Given the description of an element on the screen output the (x, y) to click on. 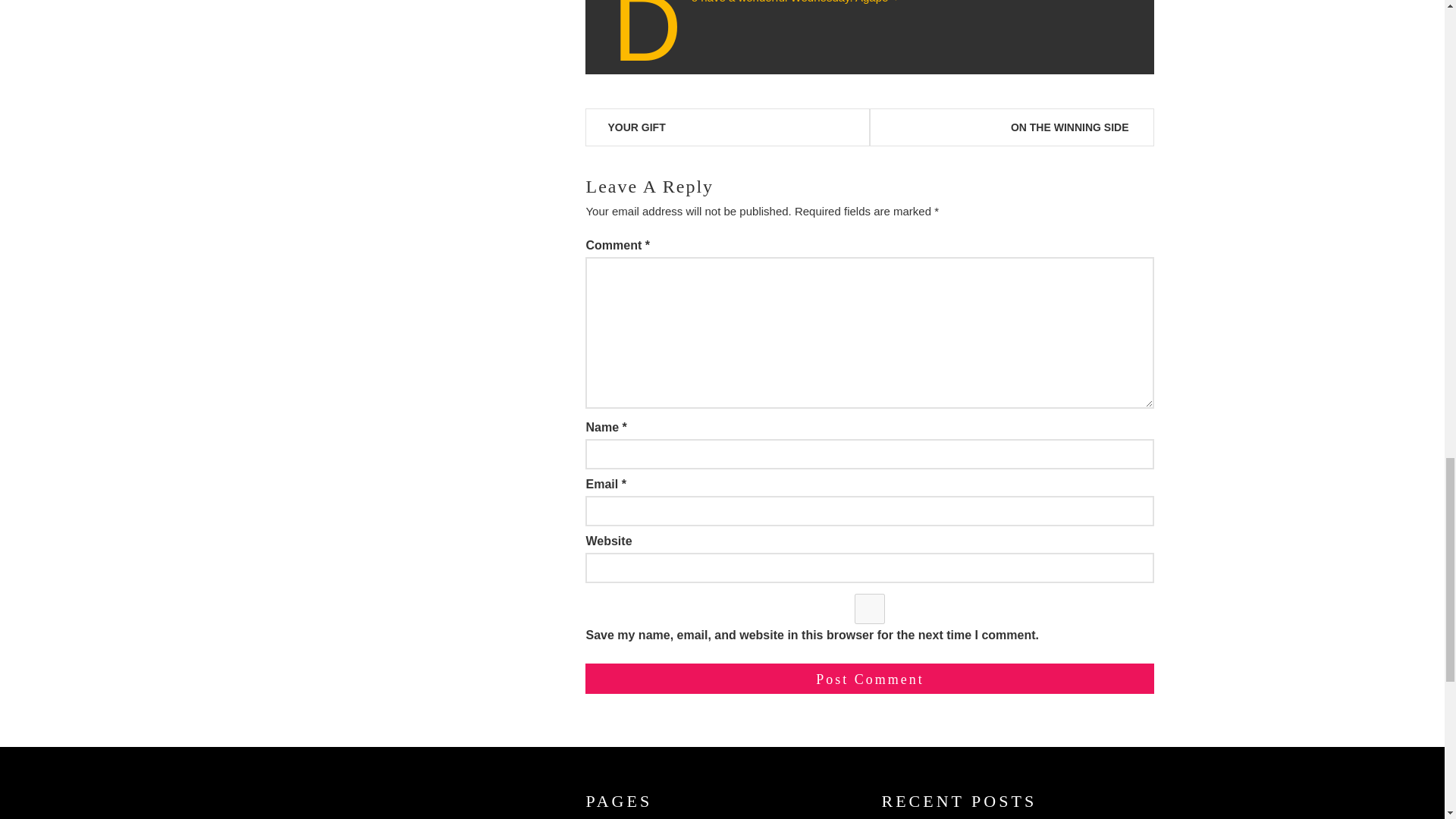
ON THE WINNING SIDE (1070, 126)
Post Comment (869, 678)
yes (869, 608)
YOUR GIFT (635, 126)
Post Comment (869, 678)
